Given the description of an element on the screen output the (x, y) to click on. 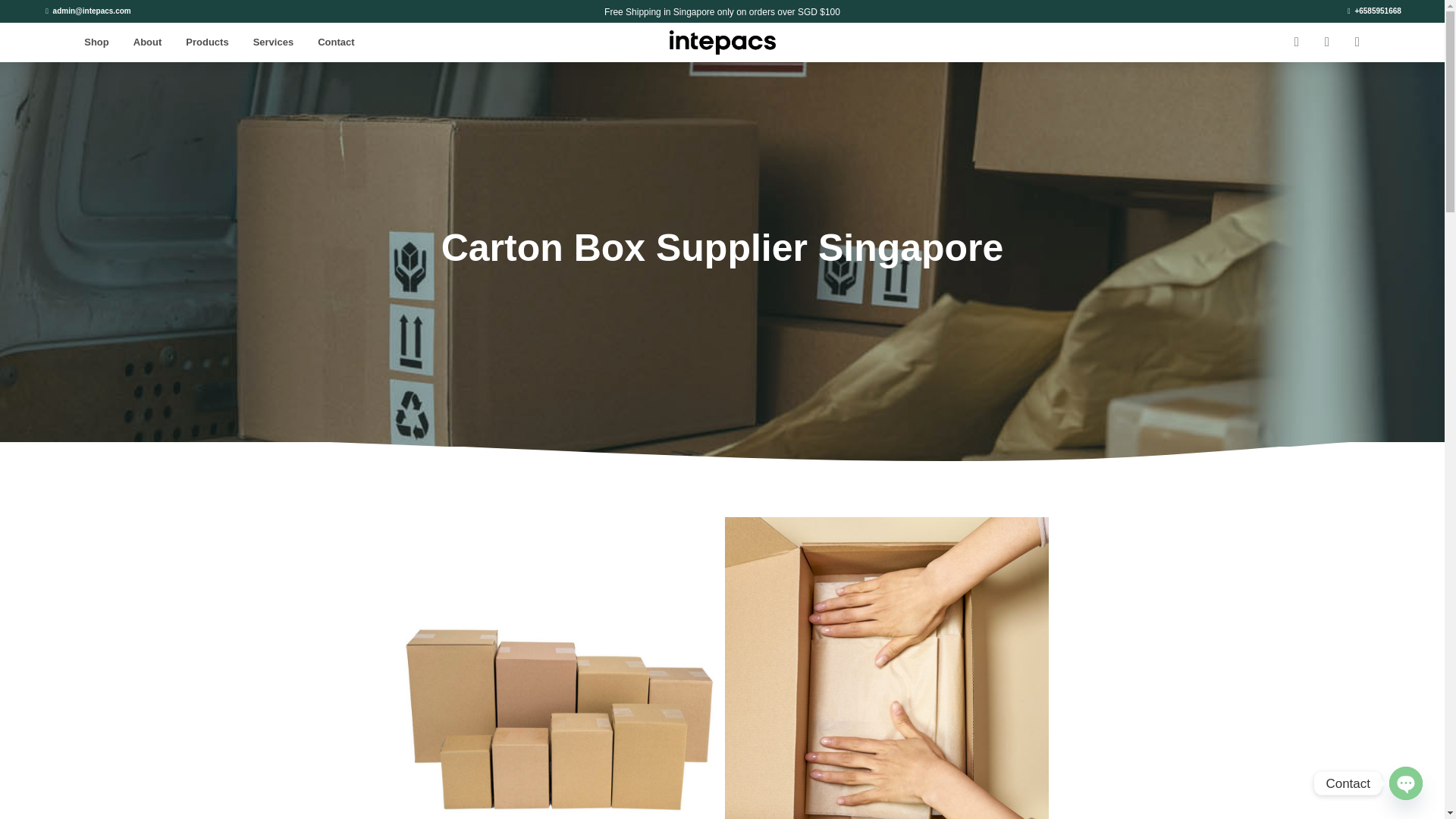
About (147, 42)
Shop (95, 42)
Products (206, 42)
Search (1296, 42)
Contact (335, 42)
Services (273, 42)
